Given the description of an element on the screen output the (x, y) to click on. 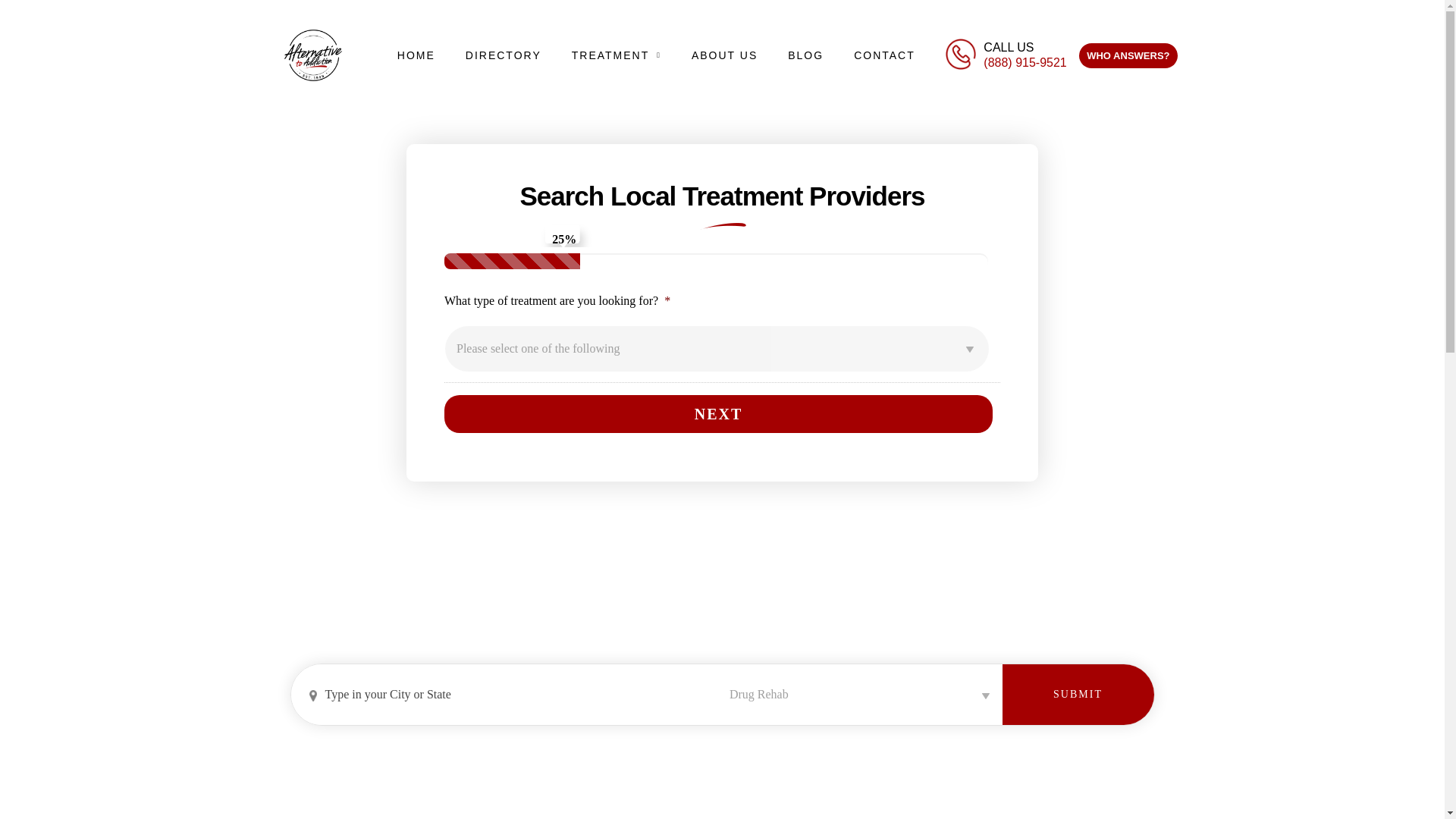
alternative final (312, 54)
HOME (415, 54)
Next (718, 413)
TREATMENT (616, 54)
Submit (1078, 694)
ABOUT US (725, 54)
CONTACT (884, 54)
DIRECTORY (502, 54)
BLOG (805, 54)
